Given the description of an element on the screen output the (x, y) to click on. 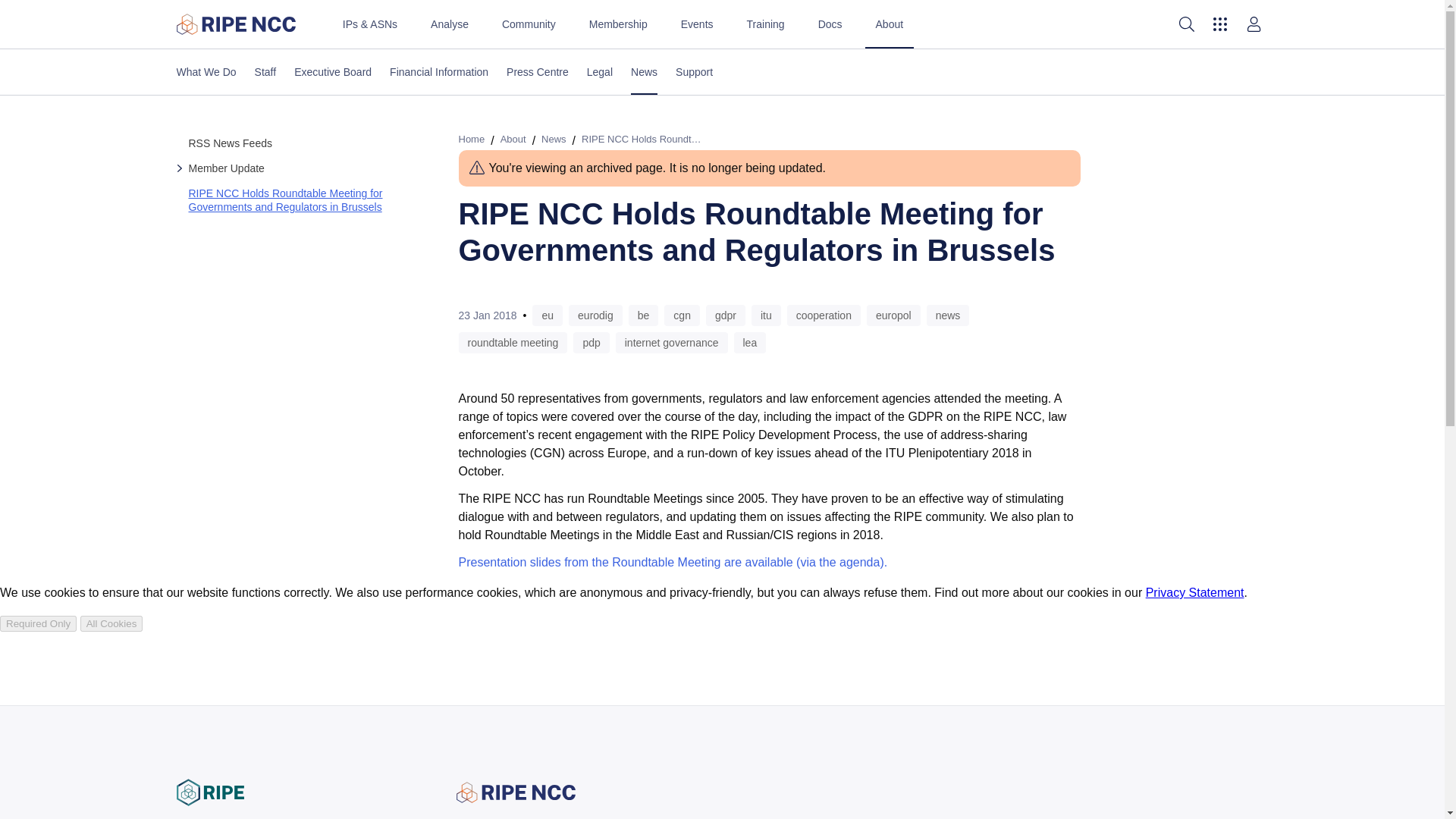
Go to homepage (235, 23)
Analyse (449, 24)
Publication date: 23 Jan 2018 (487, 315)
